Given the description of an element on the screen output the (x, y) to click on. 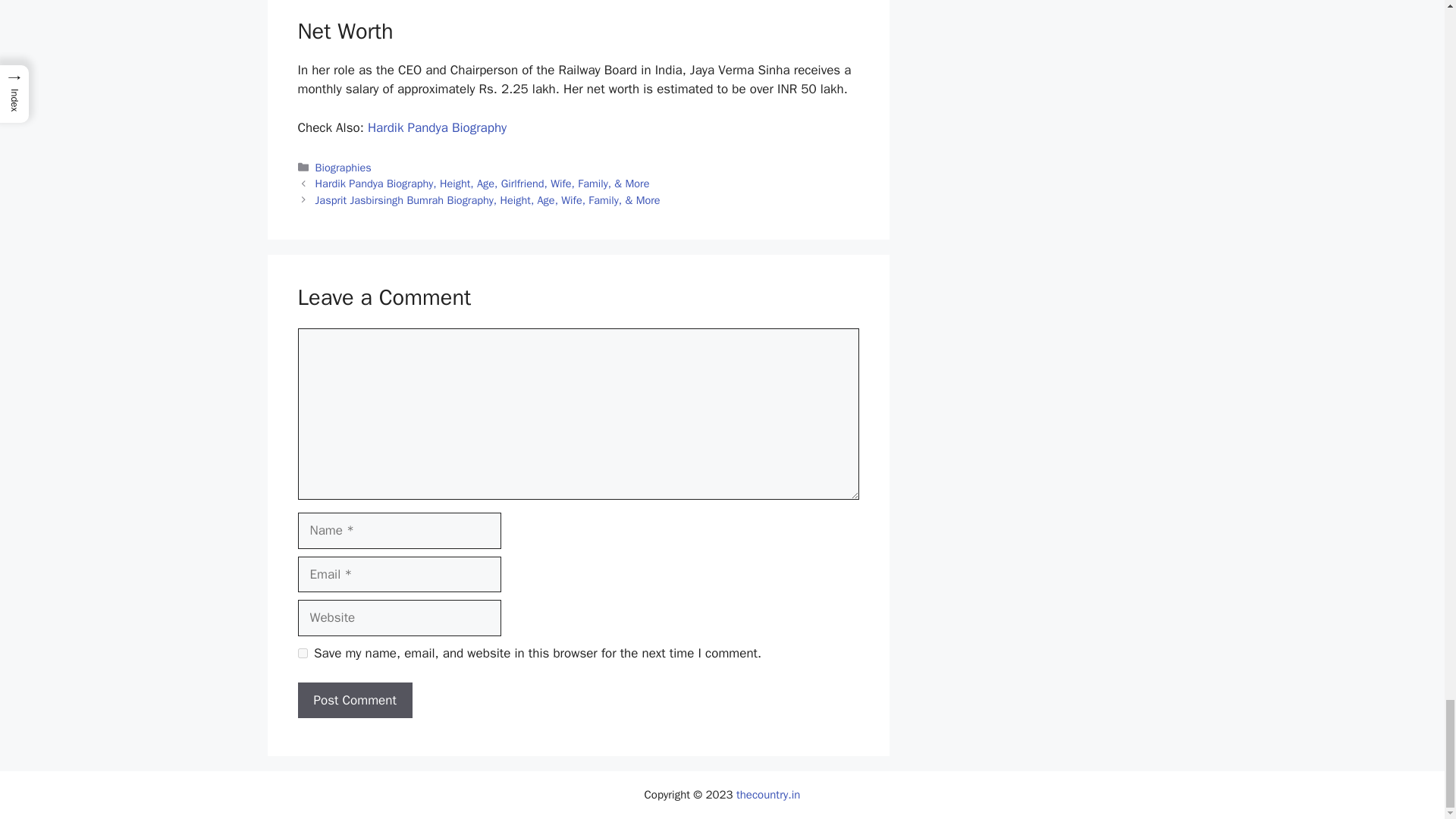
Hardik Pandya Biography (437, 127)
Post Comment (354, 699)
Biographies (343, 167)
yes (302, 653)
Post Comment (354, 699)
